Given the description of an element on the screen output the (x, y) to click on. 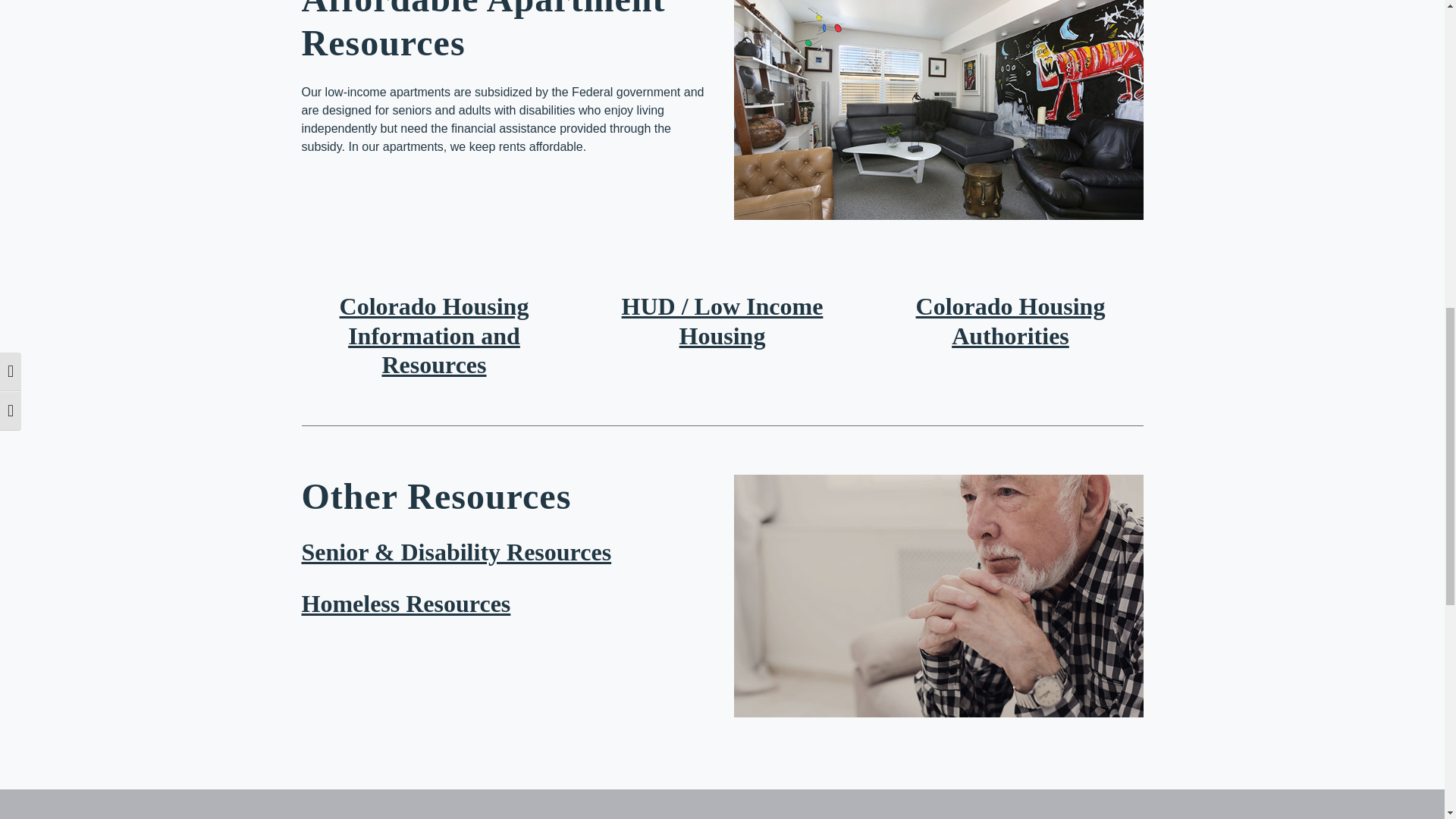
Colorado Housing Information and Resources (434, 335)
Colorado Housing Authorities (1010, 320)
Homeless Resources (406, 603)
